Given the description of an element on the screen output the (x, y) to click on. 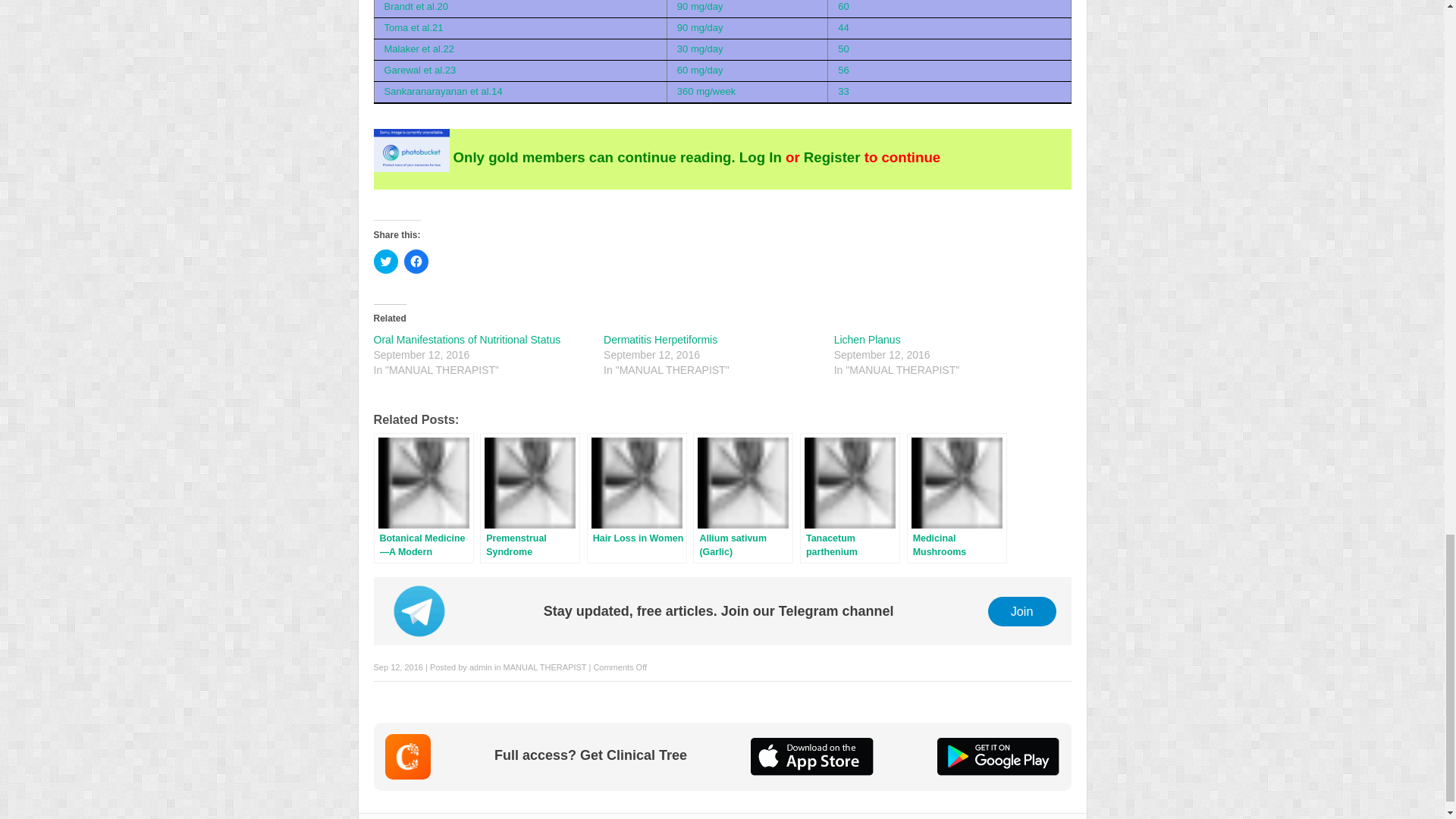
Posts by admin (480, 666)
Lichen Planus (867, 339)
Dermatitis Herpetiformis (660, 339)
Click to share on Facebook (415, 261)
Click to share on Twitter (384, 261)
Oral Manifestations of Nutritional Status (466, 339)
